Given the description of an element on the screen output the (x, y) to click on. 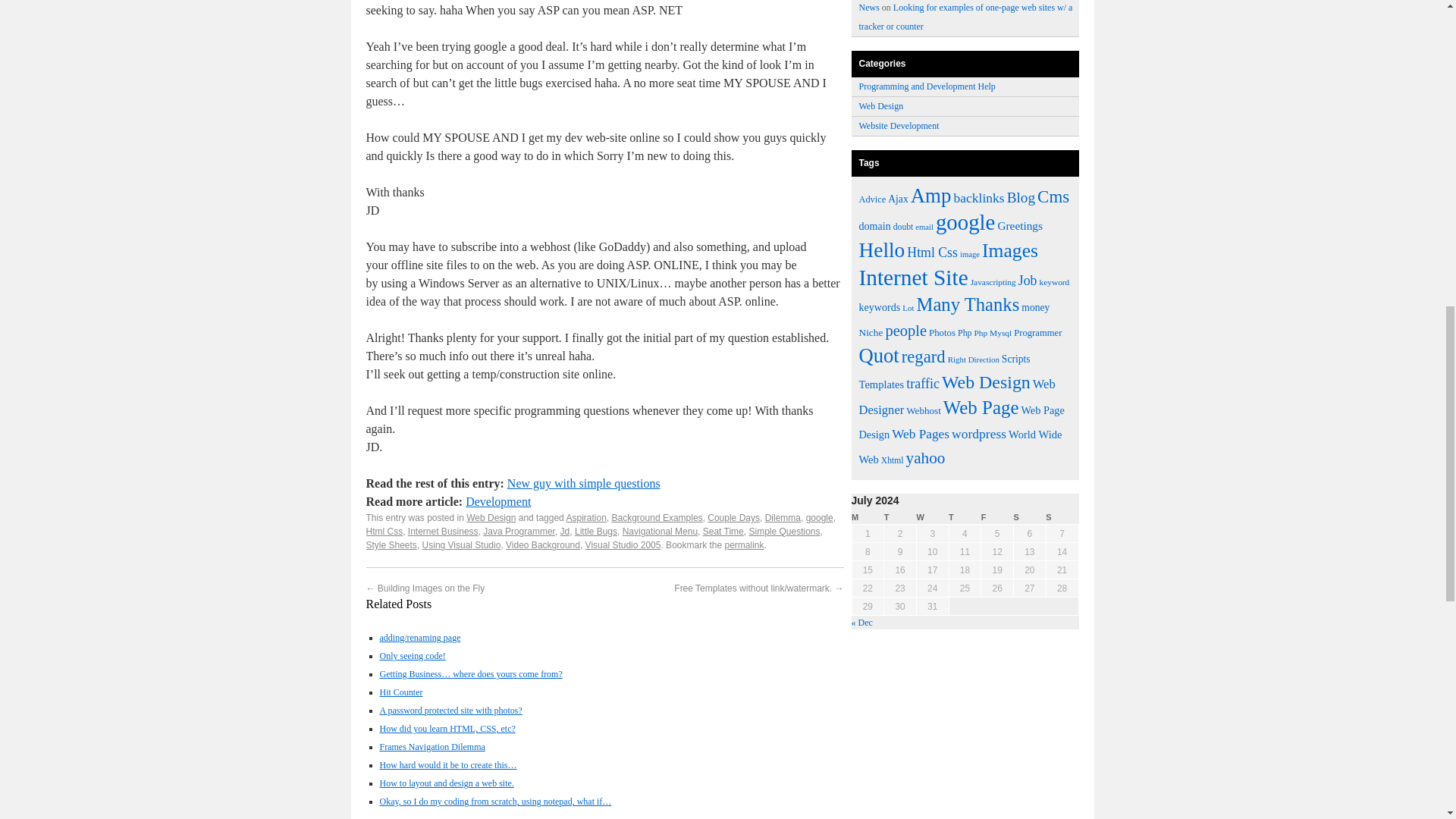
Permalink to New guy with simple questions (744, 544)
Seat Time (723, 531)
Java Programmer (518, 531)
Web Design (490, 517)
How did you learn HTML, CSS, etc? (446, 728)
Simple Questions (783, 531)
Frames Navigation Dilemma  (431, 747)
permalink (744, 544)
Html Css (384, 531)
Internet Business (443, 531)
Couple Days (733, 517)
Little Bugs (596, 531)
New guy with simple questions (583, 482)
Only seeing code!  (411, 655)
Only seeing code! (411, 655)
